Given the description of an element on the screen output the (x, y) to click on. 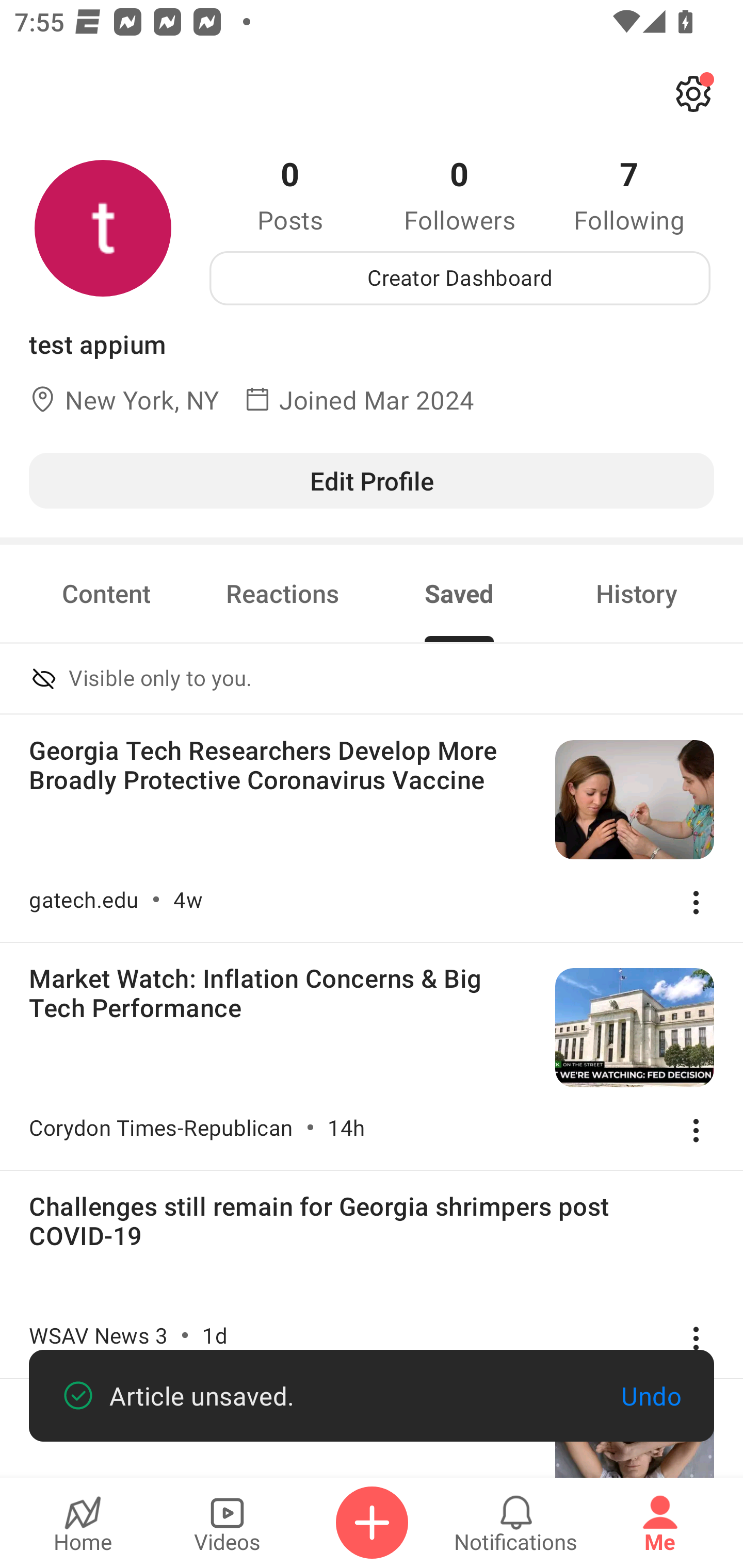
0 Followers (459, 194)
7 Following (629, 194)
Creator Dashboard (459, 277)
Edit Profile (371, 480)
Content (105, 593)
Reactions (282, 593)
History (636, 593)
Home (83, 1522)
Videos (227, 1522)
Notifications (516, 1522)
